Given the description of an element on the screen output the (x, y) to click on. 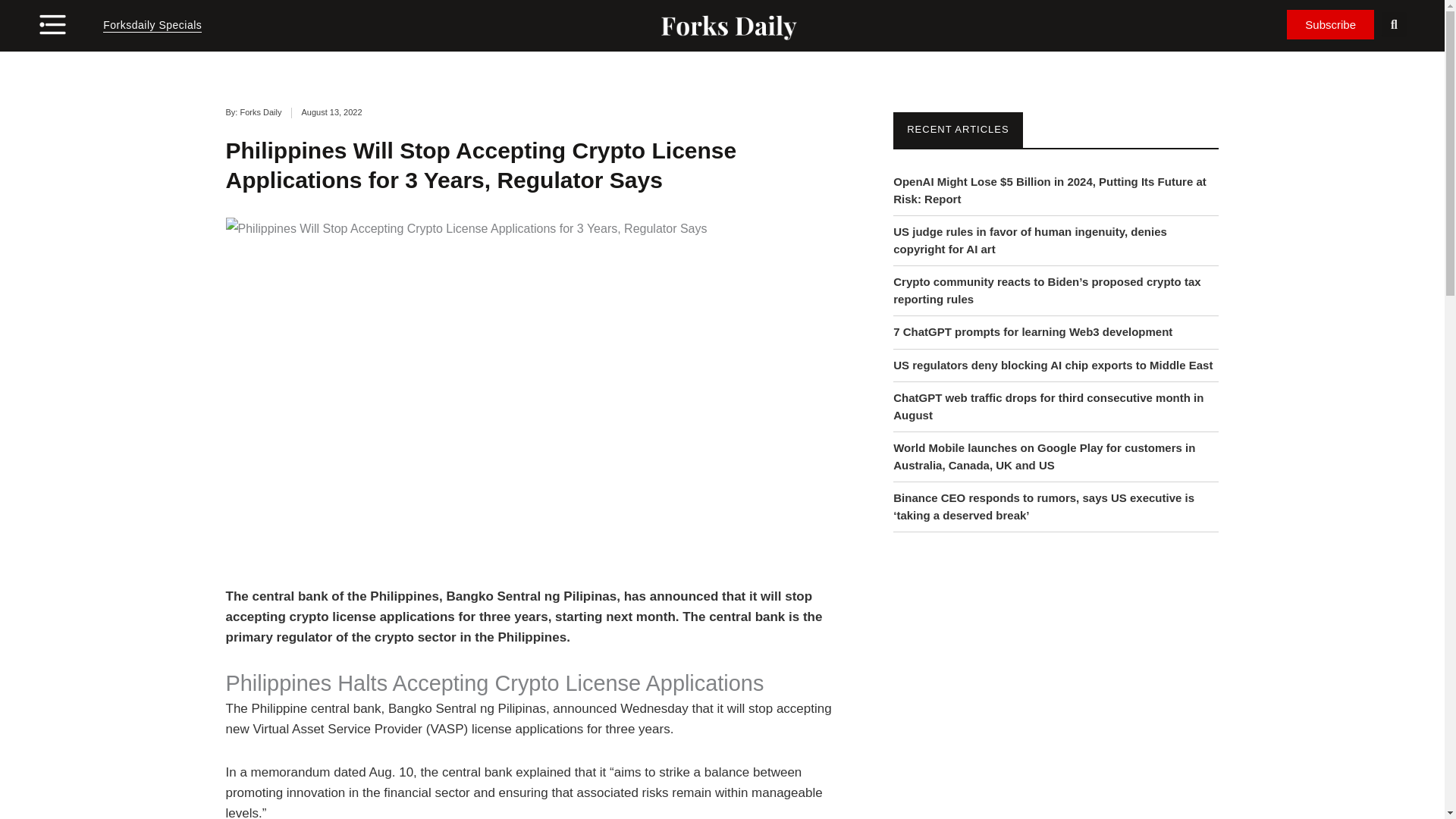
US regulators deny blocking AI chip exports to Middle East (1052, 364)
Subscribe (1330, 24)
By: Forks Daily (253, 111)
7 ChatGPT prompts for learning Web3 development (1032, 331)
August 13, 2022 (331, 111)
Advertisement (1055, 698)
